Given the description of an element on the screen output the (x, y) to click on. 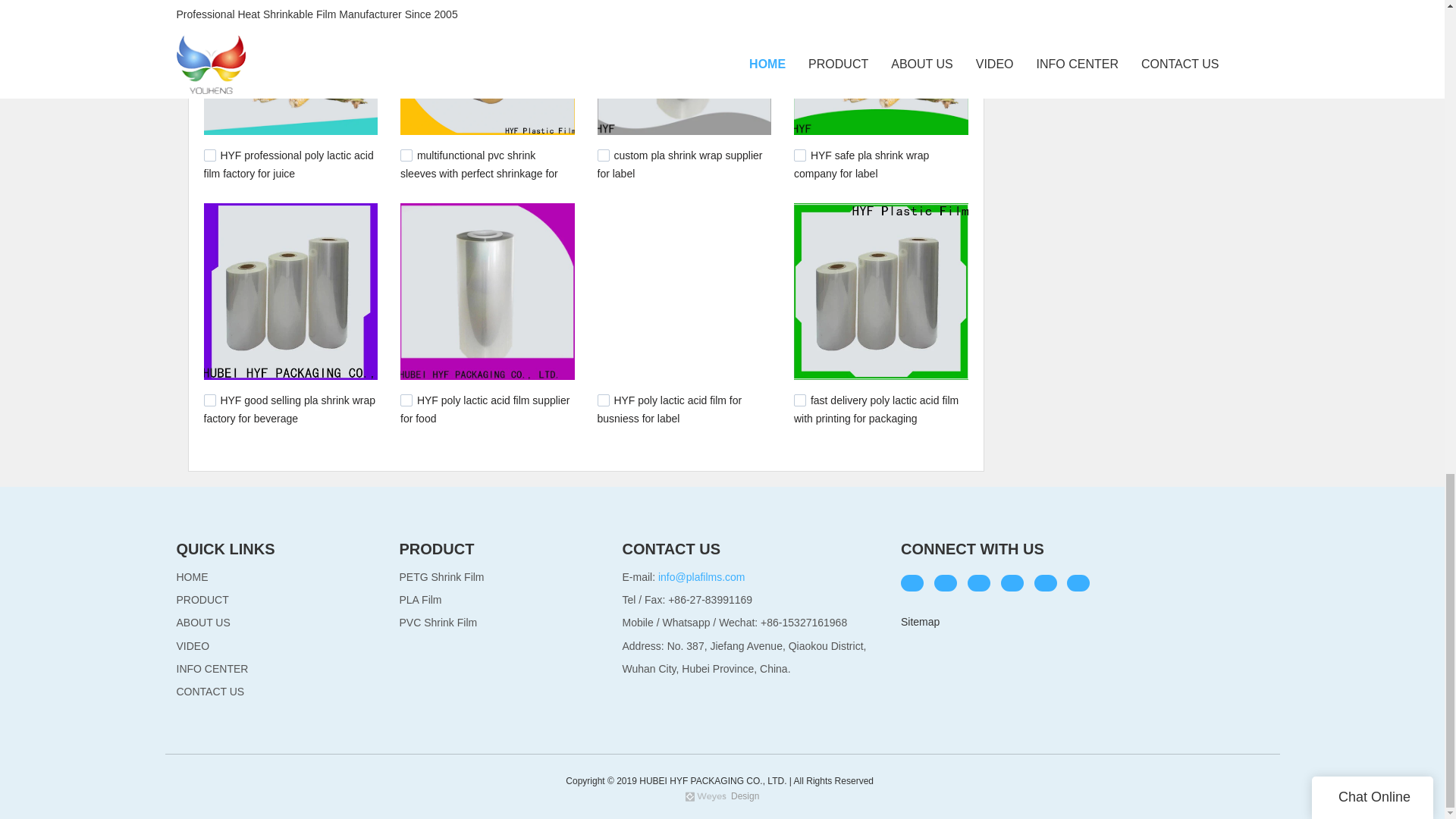
5209 (603, 155)
5183 (406, 399)
5185 (799, 155)
5212 (406, 155)
HYF poly lactic acid film for busniess for label (669, 409)
custom pla shrink wrap supplier for label (679, 164)
HYF safe pla shrink wrap company for label (860, 164)
5179 (209, 399)
